Given the description of an element on the screen output the (x, y) to click on. 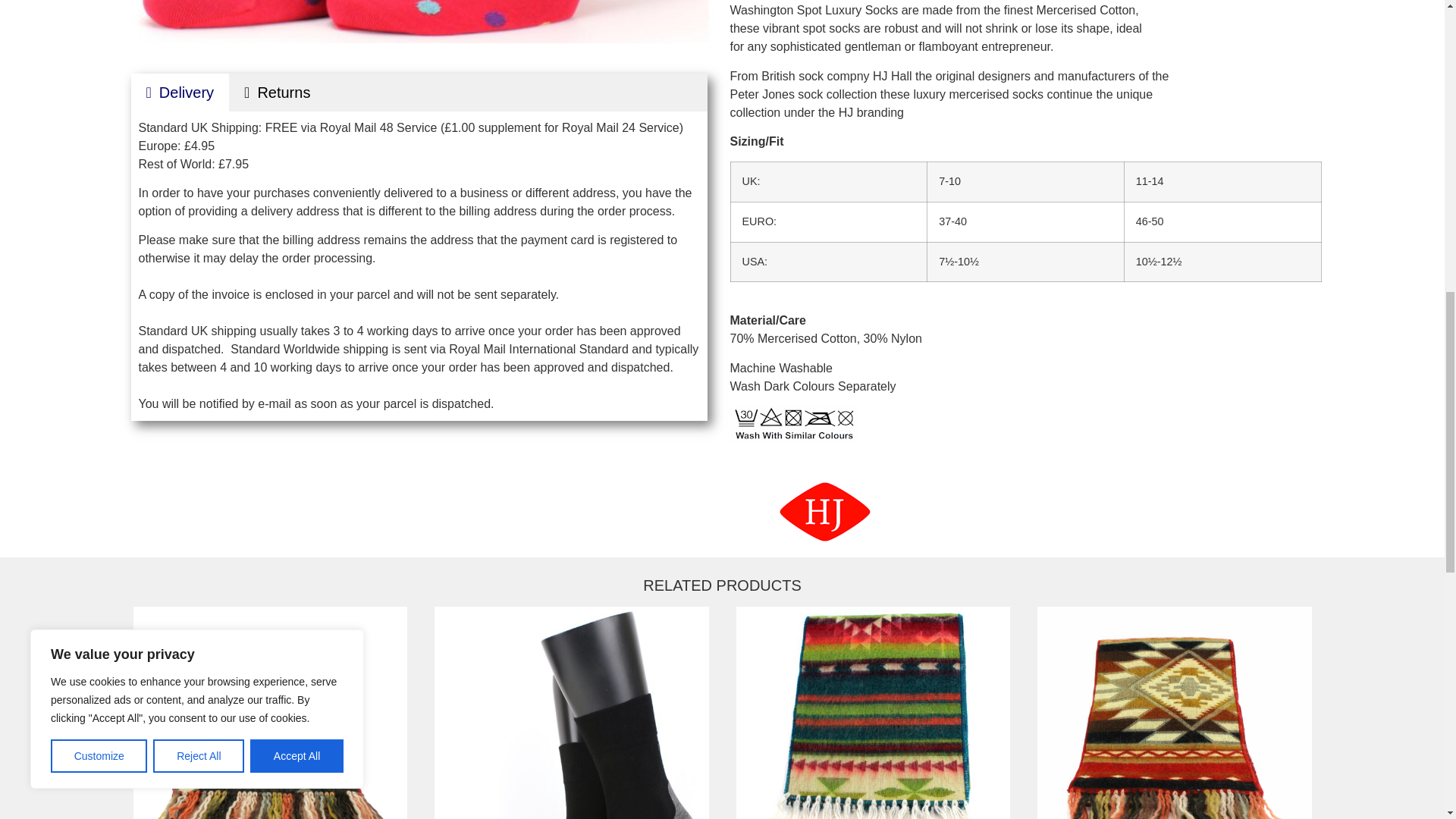
wash care instructions (793, 424)
